Given the description of an element on the screen output the (x, y) to click on. 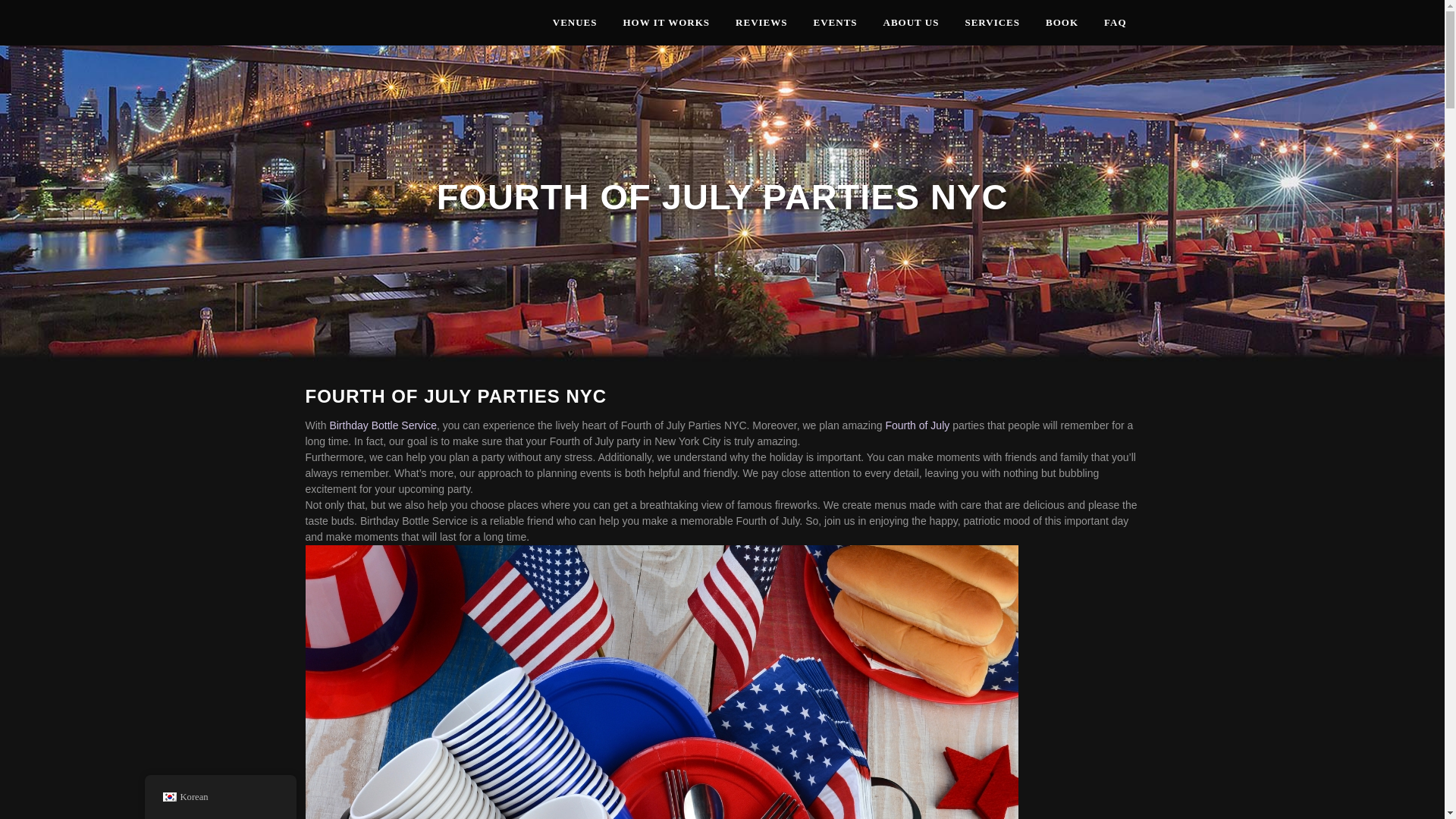
HOW IT WORKS (666, 22)
ABOUT US (911, 22)
EVENTS (835, 22)
VENUES (575, 22)
REVIEWS (760, 22)
SERVICES (992, 22)
Korean (168, 796)
